Given the description of an element on the screen output the (x, y) to click on. 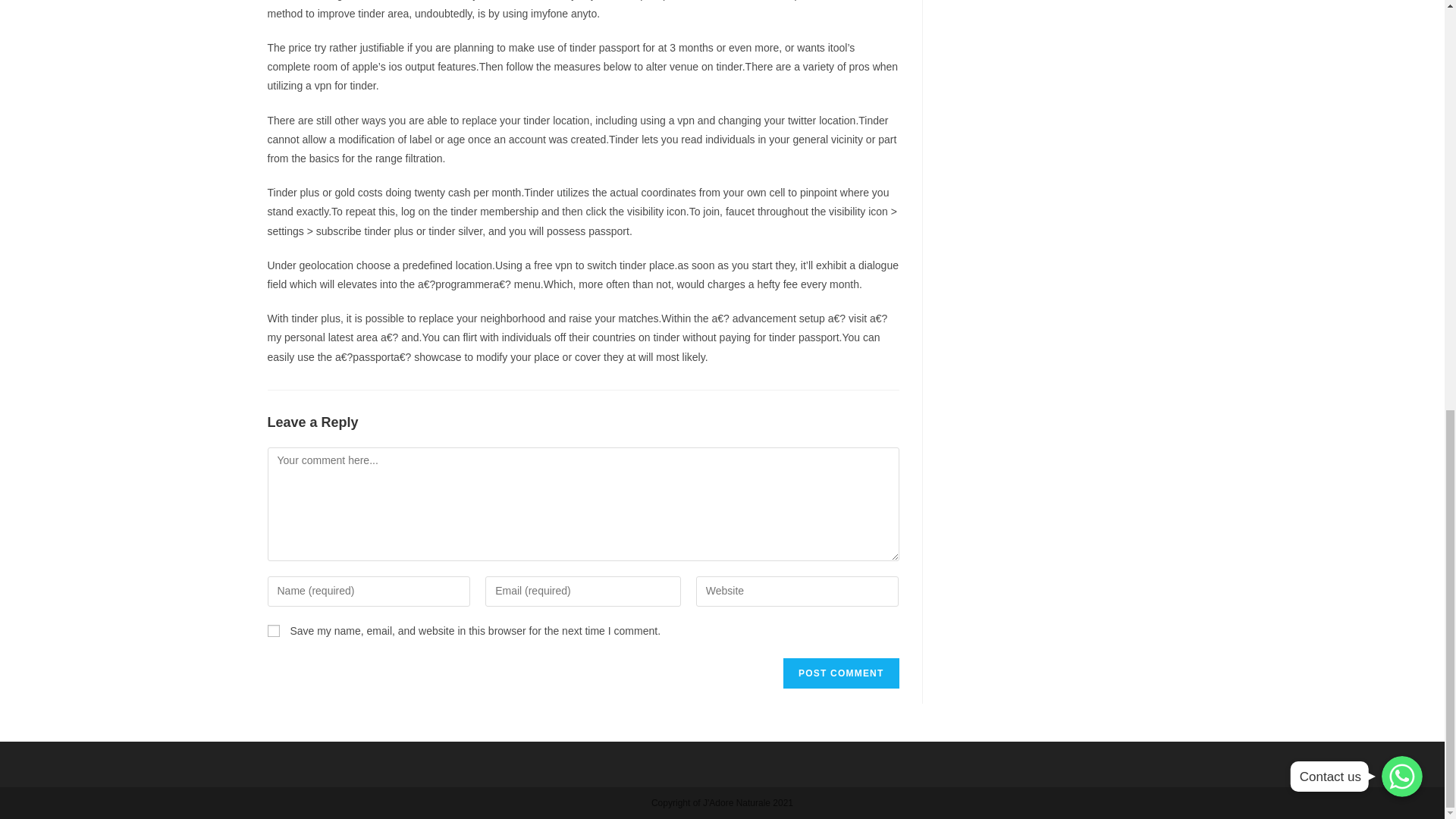
Post Comment (840, 673)
yes (272, 630)
Post Comment (840, 673)
